Given the description of an element on the screen output the (x, y) to click on. 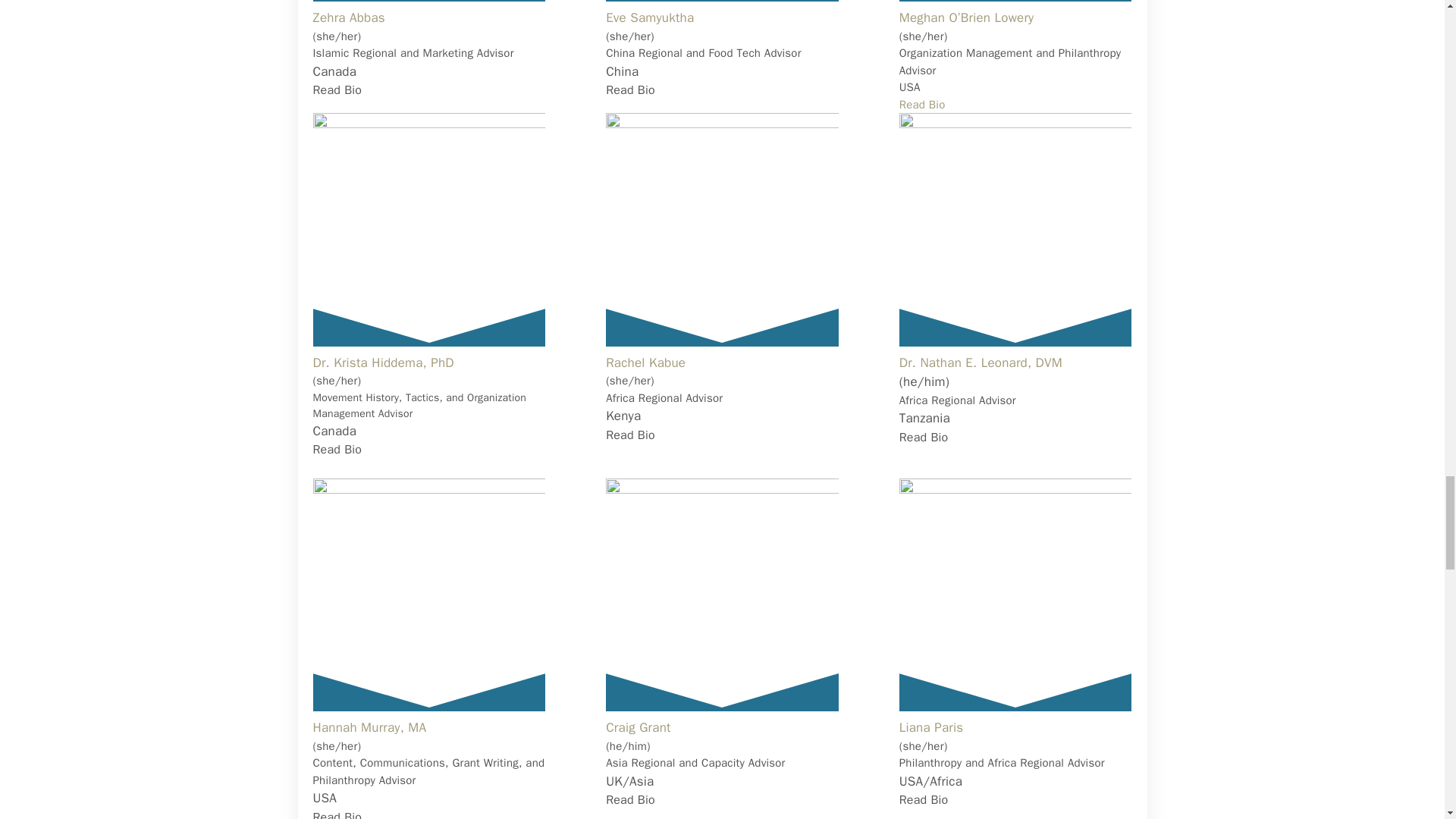
Krista (428, 229)
